Given the description of an element on the screen output the (x, y) to click on. 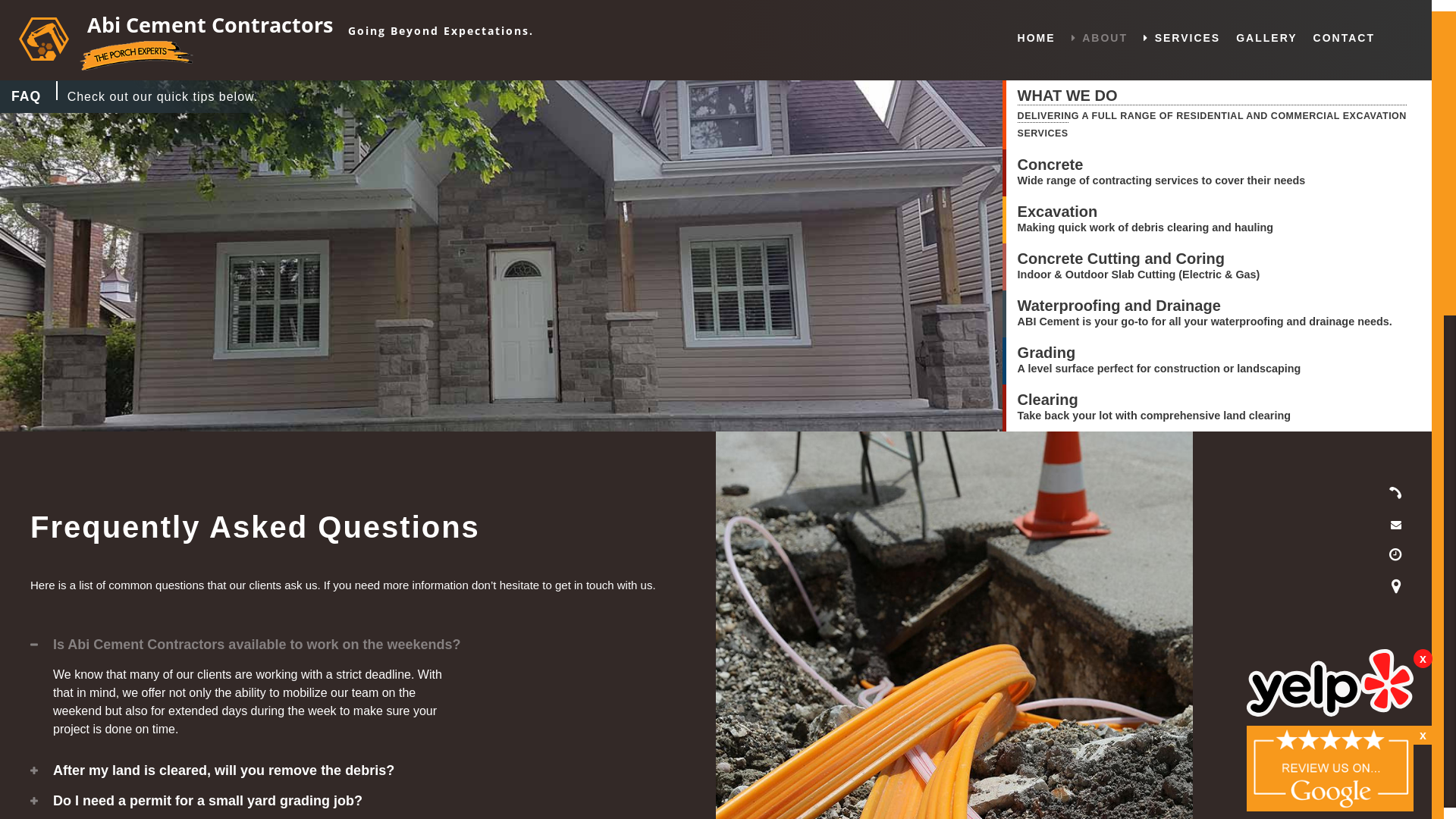
 ABOUT Element type: text (1099, 37)
Concrete Element type: text (1161, 164)
Concrete Cutting and Coring Element type: text (1138, 258)
Excavation Element type: text (1145, 211)
 SERVICES Element type: text (1181, 37)
Do I need a permit for a small yard grading job? Element type: text (357, 800)
WHAT WE DO Element type: text (1218, 96)
HOME Element type: text (1036, 37)
After my land is cleared, will you remove the debris? Element type: text (357, 770)
CONTACT Element type: text (1343, 37)
Grading Element type: text (1159, 352)
Is Abi Cement Contractors available to work on the weekends? Element type: text (357, 644)
GALLERY Element type: text (1266, 37)
Waterproofing and Drainage Element type: text (1204, 305)
Clearing Element type: text (1153, 399)
